Given the description of an element on the screen output the (x, y) to click on. 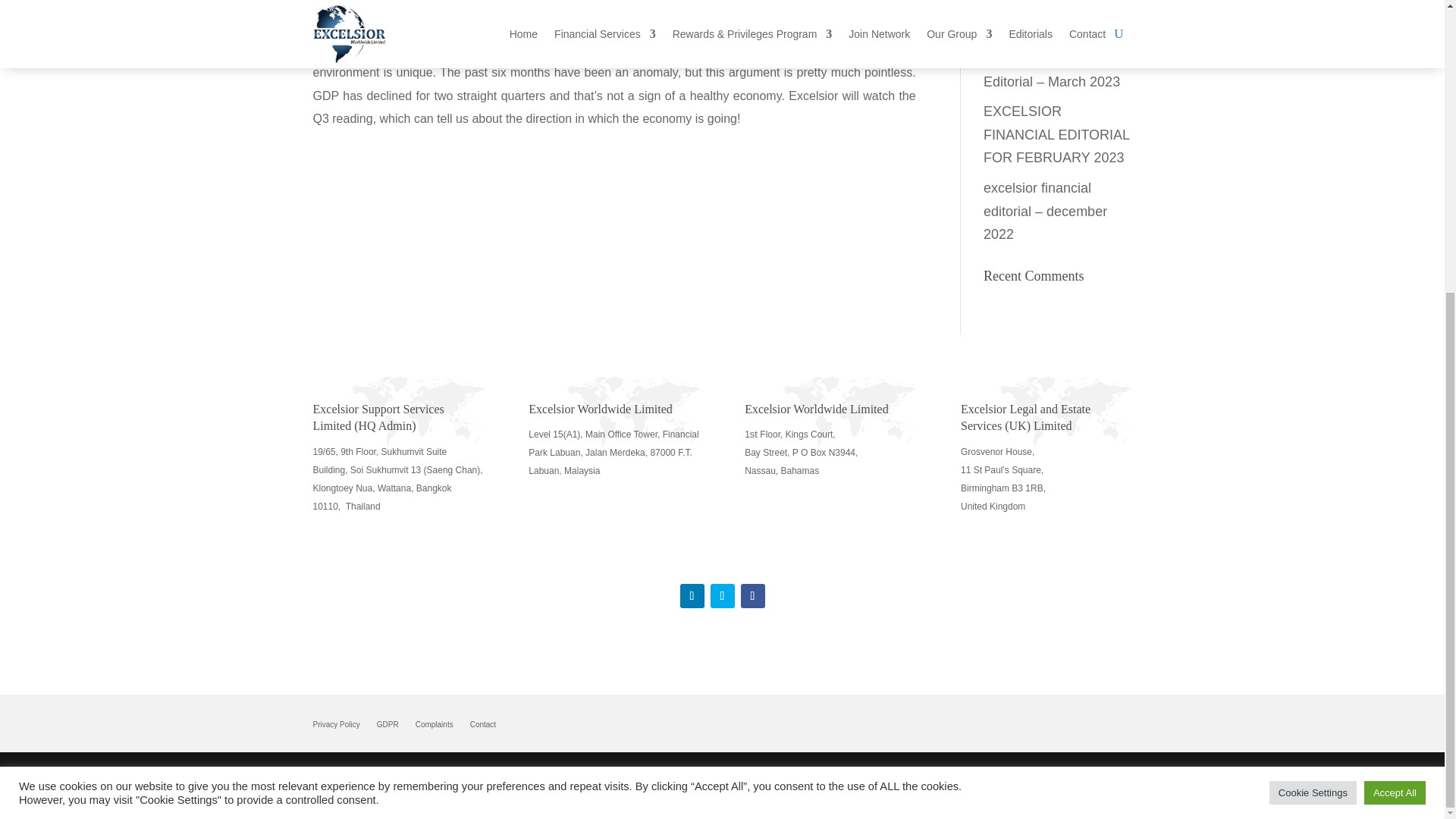
Follow on LinkedIn (691, 595)
Follow on Facebook (751, 595)
Follow on Twitter (721, 595)
EXCELSIOR FINANCIAL EDITORIAL FOR FEBRUARY 2023 (1056, 134)
